Given the description of an element on the screen output the (x, y) to click on. 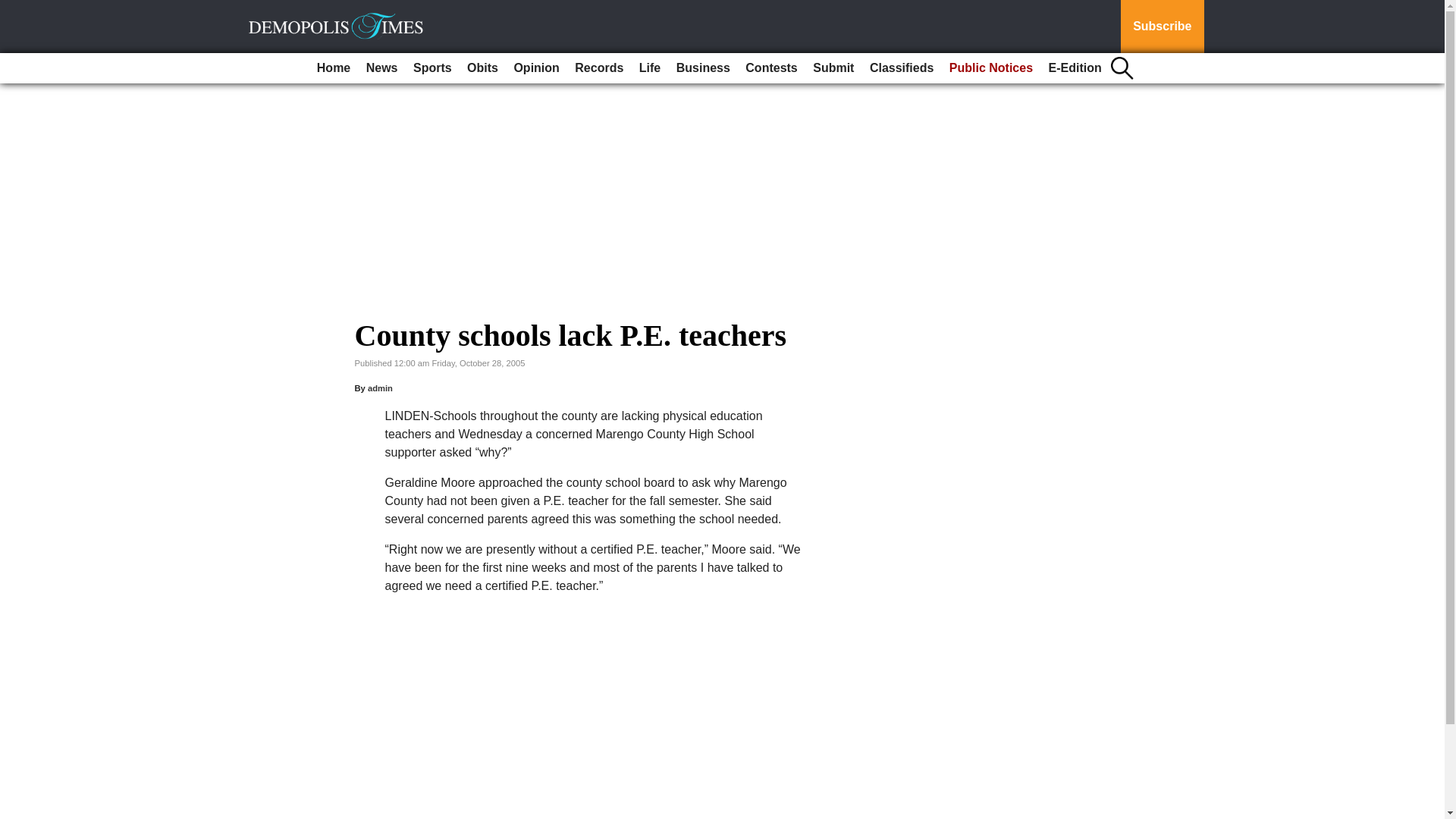
Home (333, 68)
Public Notices (991, 68)
Subscribe (1162, 26)
Life (649, 68)
Go (13, 9)
E-Edition (1075, 68)
Opinion (535, 68)
admin (380, 388)
Classifieds (901, 68)
Business (702, 68)
